Given the description of an element on the screen output the (x, y) to click on. 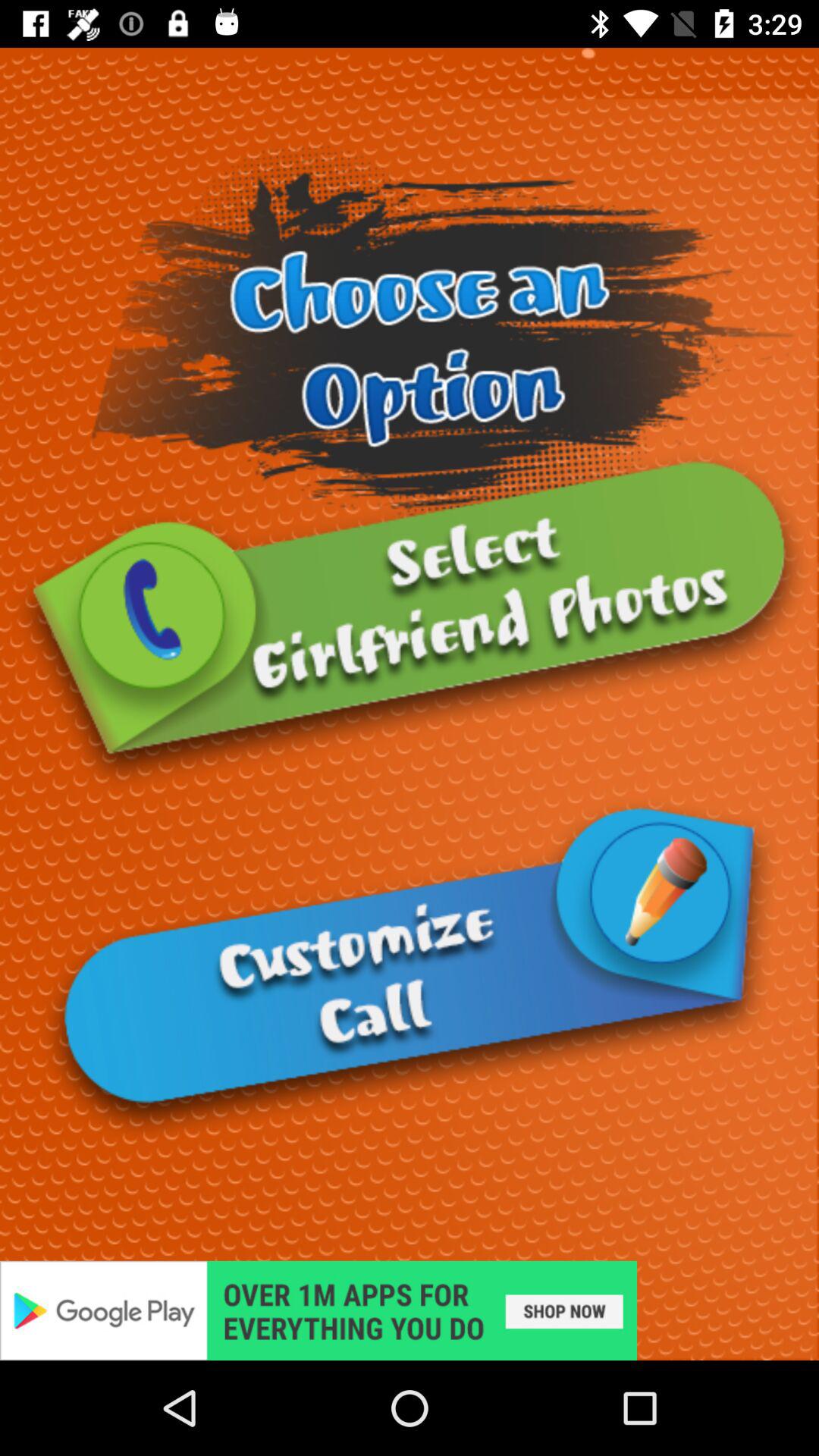
select girlfriend photos (409, 621)
